Given the description of an element on the screen output the (x, y) to click on. 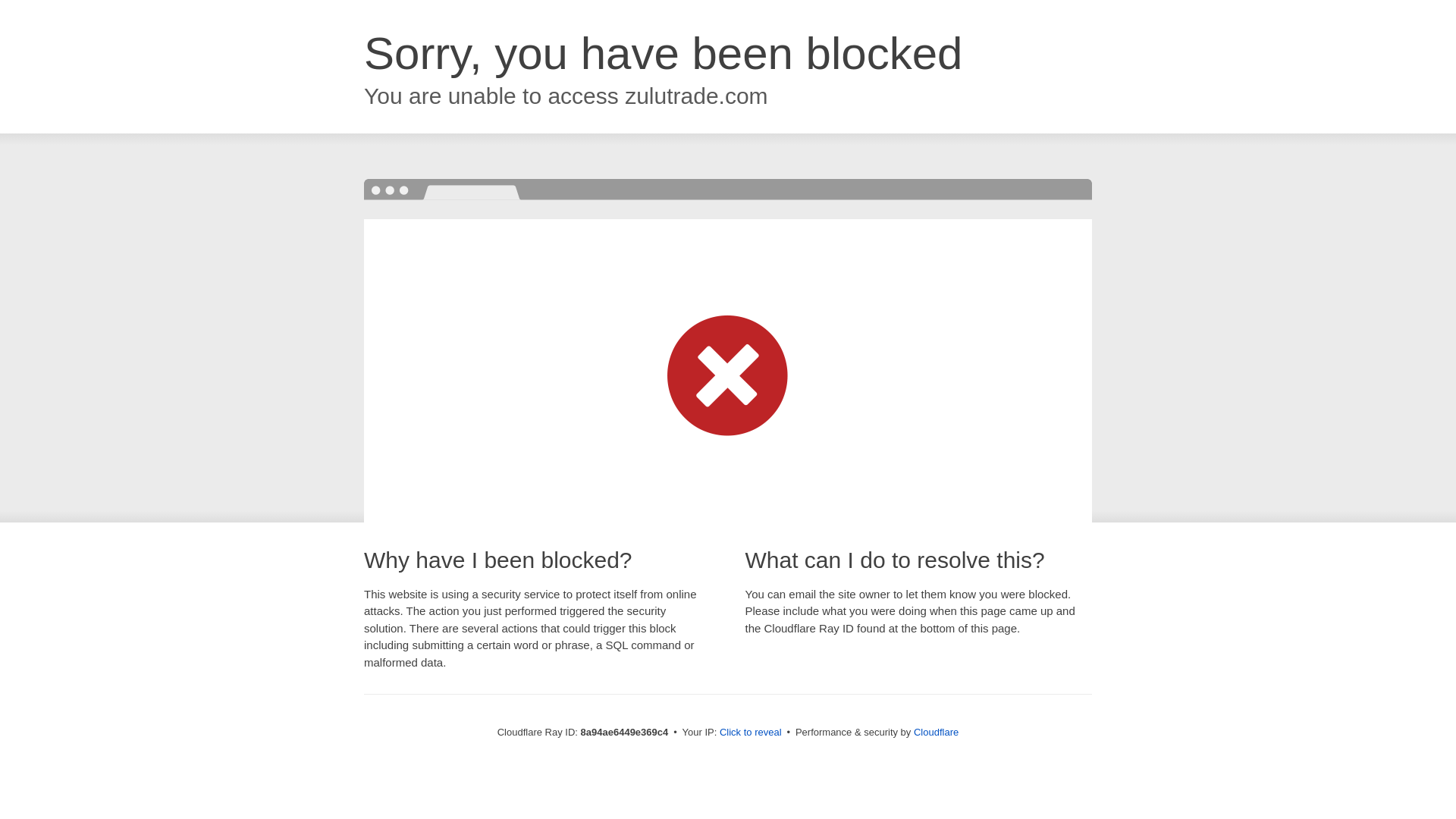
Click to reveal (750, 732)
Cloudflare (936, 731)
